Given the description of an element on the screen output the (x, y) to click on. 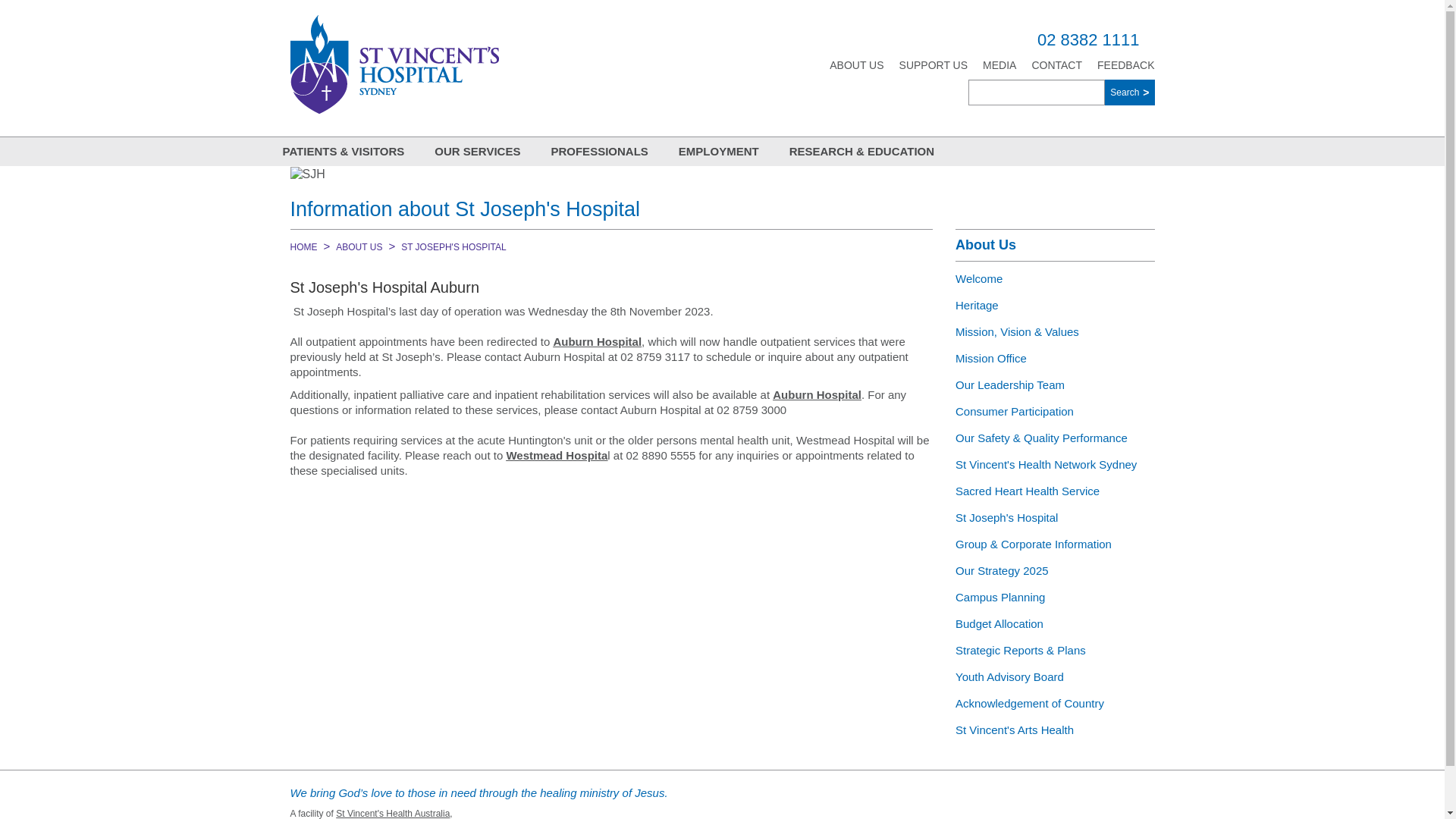
Auburn Hospital Element type: text (816, 394)
PROFESSIONALS Element type: text (598, 151)
RESEARCH & EDUCATION Element type: text (861, 151)
Mission Office Element type: text (1054, 357)
Auburn Hospital Element type: text (596, 341)
Search Element type: text (1129, 92)
About Us Element type: text (1054, 245)
Sacred Heart Health Service Element type: text (1054, 490)
Find us on Youtube Element type: text (1138, 800)
St Vincent's Arts Health Element type: text (1054, 729)
CONTACT Element type: text (1056, 65)
Heritage Element type: text (1054, 304)
Youth Advisory Board Element type: text (1054, 676)
Our Safety & Quality Performance Element type: text (1054, 437)
Welcome Element type: text (1054, 278)
Budget Allocation Element type: text (1054, 623)
Find us on Facebook Element type: text (1007, 800)
ABOUT US Element type: text (856, 65)
Our Leadership Team Element type: text (1054, 384)
HOME Element type: text (302, 246)
Our Strategy 2025 Element type: text (1054, 570)
EMPLOYMENT Element type: text (718, 151)
Follow us on Twiter Element type: text (1040, 800)
Campus Planning Element type: text (1054, 596)
Group & Corporate Information Element type: text (1054, 543)
SUPPORT US Element type: text (933, 65)
MEDIA Element type: text (999, 65)
Consumer Participation Element type: text (1054, 410)
St Vincent's Health Network Sydney Element type: text (1054, 464)
St Joseph's Hospital Element type: text (1054, 517)
ST JOSEPH'S HOSPITAL Element type: text (453, 246)
OUR SERVICES Element type: text (477, 151)
Westmead Hospita Element type: text (556, 454)
Strategic Reports & Plans Element type: text (1054, 649)
Acknowledgement of Country Element type: text (1054, 702)
ABOUT US Element type: text (358, 246)
Follow us on Linkedin Element type: text (1073, 800)
Follow us on Instagram Element type: text (1106, 800)
Section Menu Element type: text (954, 196)
FEEDBACK Element type: text (1125, 65)
PATIENTS & VISITORS Element type: text (342, 151)
Mission, Vision & Values Element type: text (1054, 331)
Keyword Element type: hover (1036, 92)
